Given the description of an element on the screen output the (x, y) to click on. 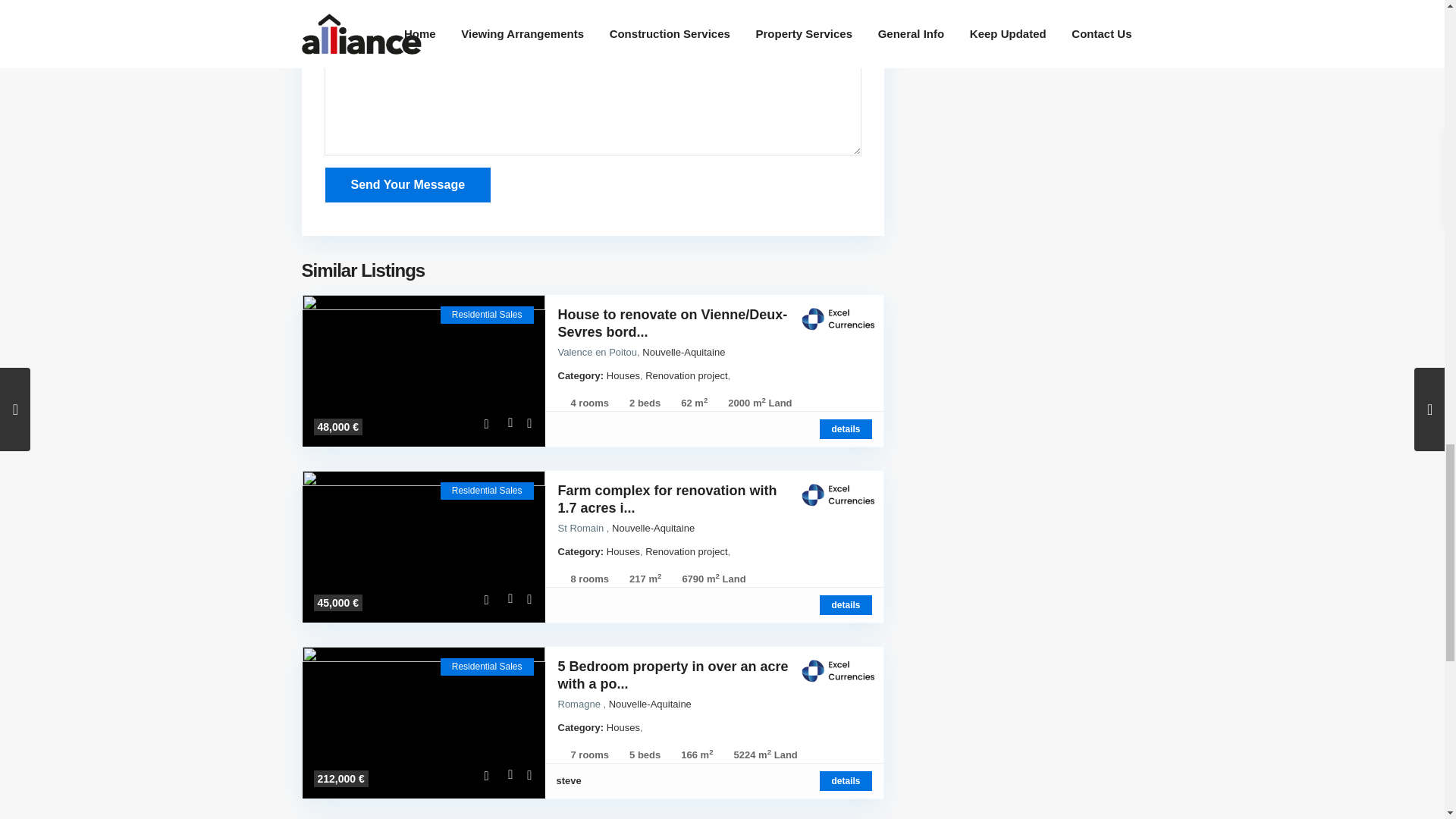
Send Your Message (408, 185)
Excelcurrencies (837, 670)
Excelcurrencies (837, 494)
Excelcurrencies (837, 318)
